Given the description of an element on the screen output the (x, y) to click on. 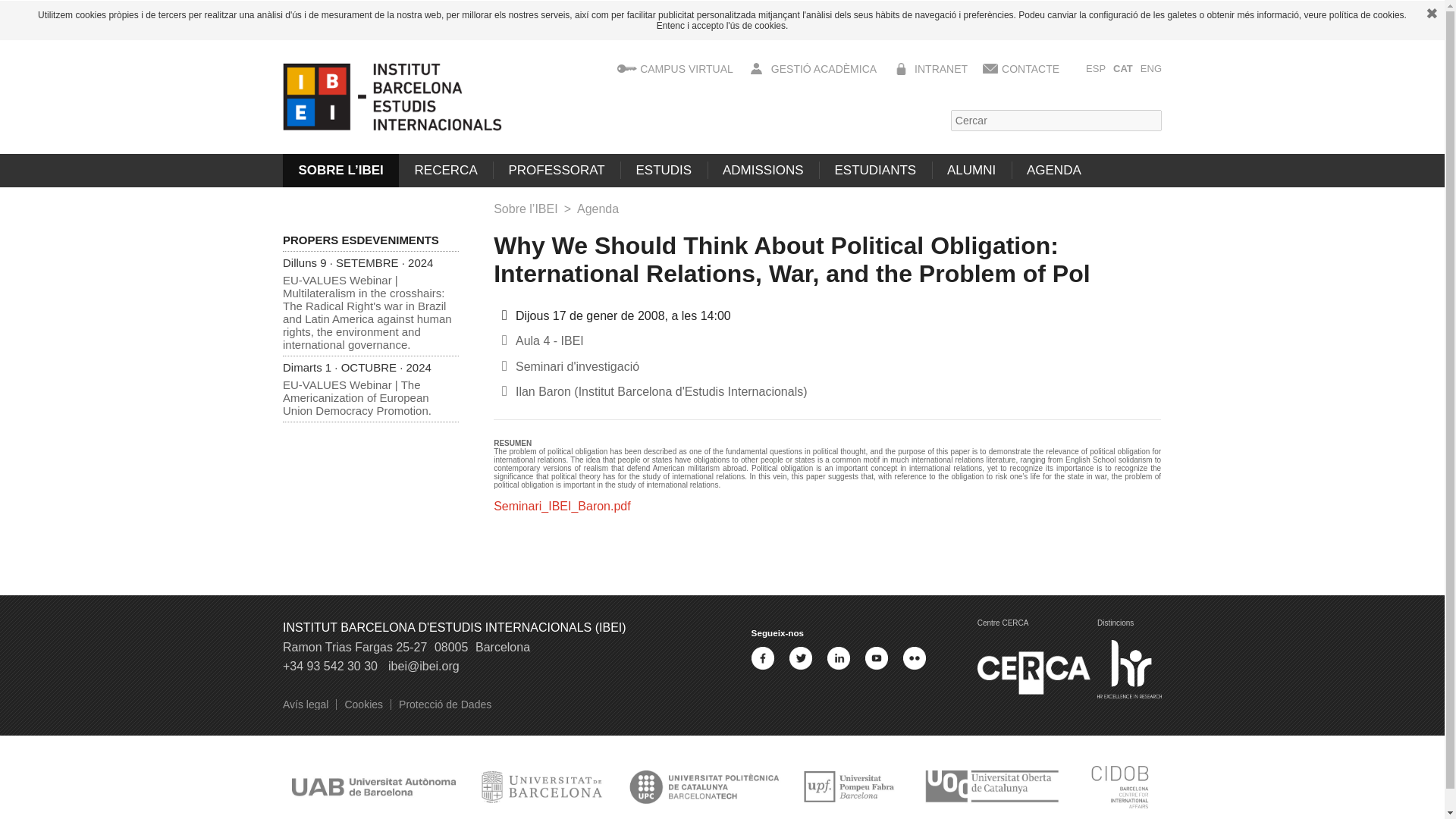
RECERCA (445, 170)
CAMPUS VIRTUAL (686, 69)
CONTACTE (1030, 69)
CAT (1122, 68)
INTRANET (941, 69)
ESP (1095, 68)
ENG (1150, 68)
PROFESSORAT (556, 170)
